Given the description of an element on the screen output the (x, y) to click on. 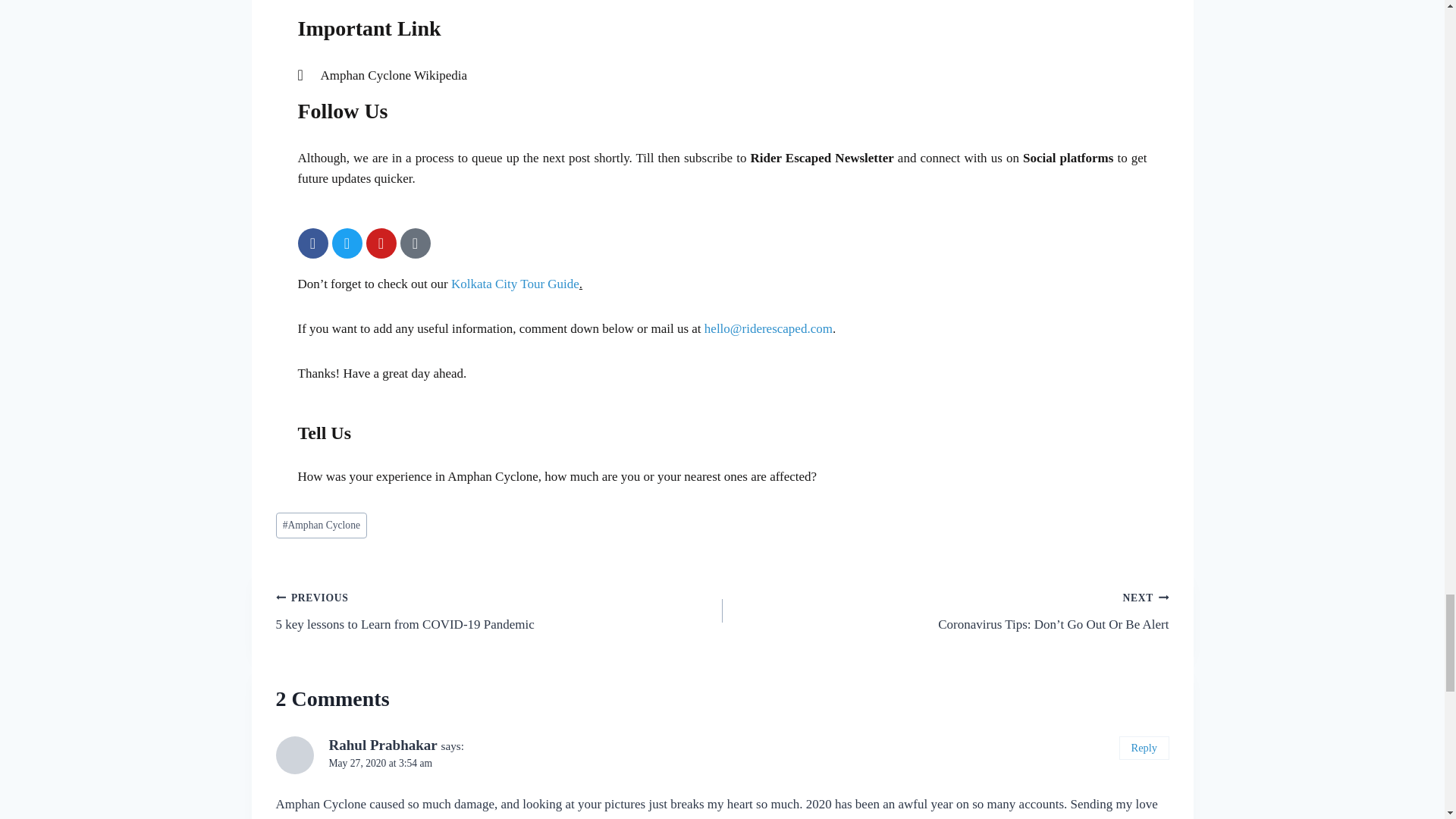
Kolkata City Tour Guide (515, 283)
Amphan Cyclone Wikipedia (722, 75)
May 27, 2020 at 3:54 am (380, 763)
Rahul Prabhakar (383, 744)
Amphan Cyclone (499, 610)
